Given the description of an element on the screen output the (x, y) to click on. 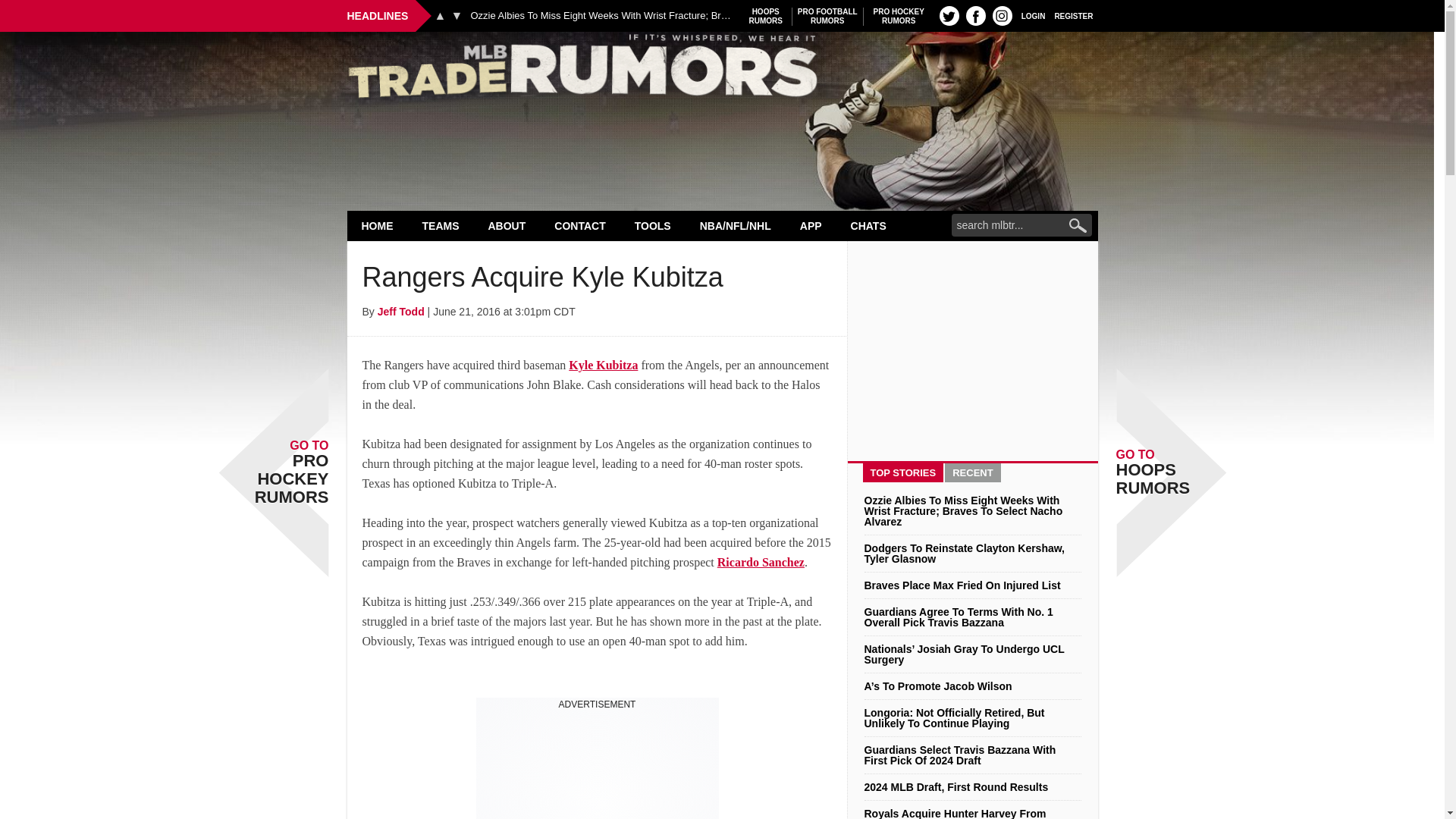
HOME (377, 225)
Instagram profile (1001, 15)
TEAMS (440, 225)
Next (456, 15)
FB profile (765, 16)
LOGIN (975, 15)
Previous (1032, 15)
Twitter profile (898, 16)
REGISTER (439, 15)
MLB Trade Rumors (949, 15)
